Given the description of an element on the screen output the (x, y) to click on. 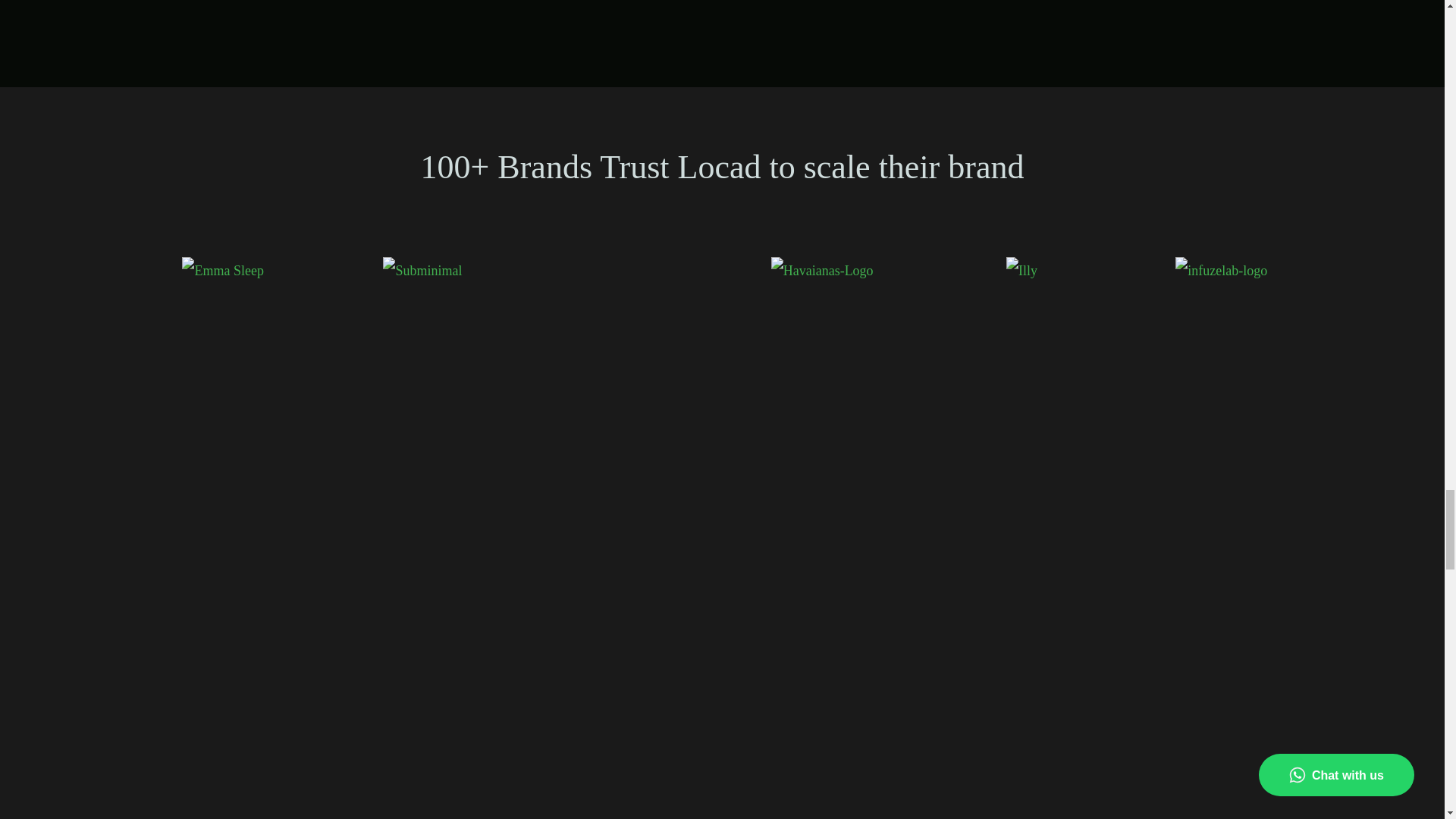
Simplify order management for your business 9 (1053, 5)
